Given the description of an element on the screen output the (x, y) to click on. 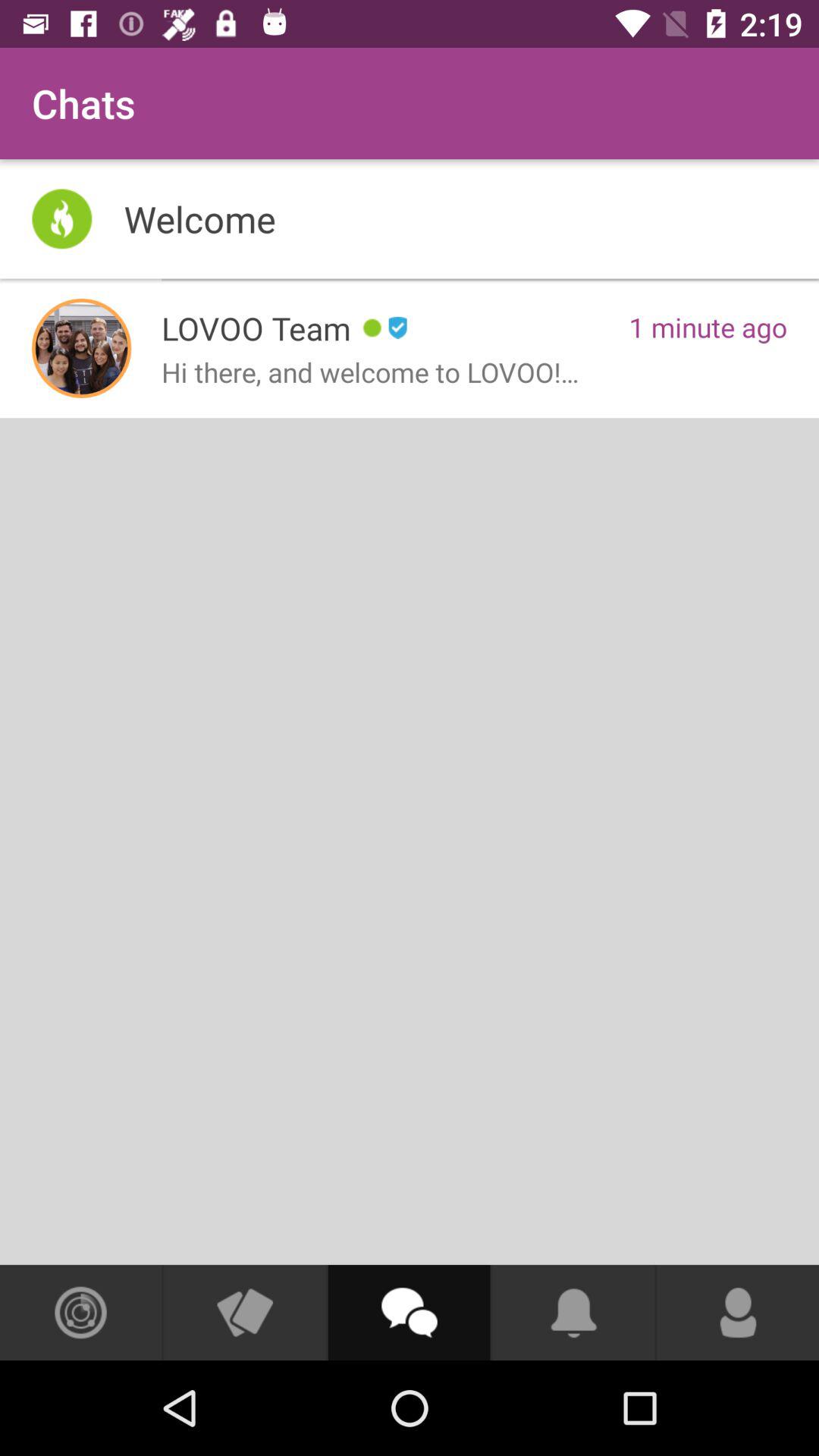
turn on the icon below the welcome (81, 348)
